Given the description of an element on the screen output the (x, y) to click on. 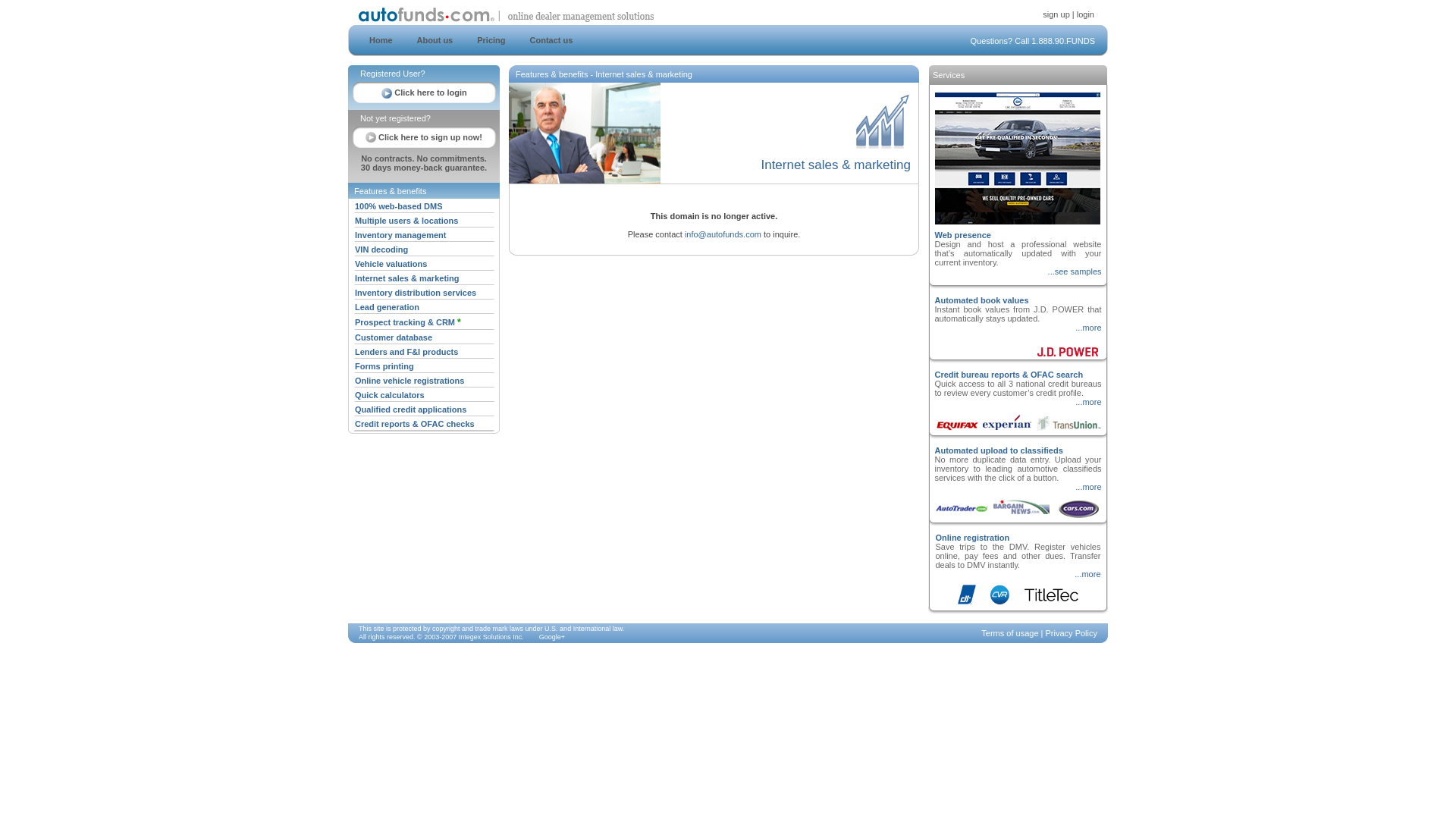
Web presence Element type: text (962, 234)
Lenders and F&I products Element type: text (406, 351)
Inventory management Element type: text (399, 234)
About us Element type: text (430, 39)
Integex Solutions Inc. Element type: text (491, 636)
sign up Element type: text (1055, 13)
Vehicle valuations Element type: text (390, 263)
J.D. POWER B2B vehicle values Element type: hover (1067, 343)
Terms of usage Element type: text (1009, 632)
Pricing Element type: text (490, 39)
Click here to login Element type: text (423, 92)
...more Element type: text (1088, 401)
Online vehicle registrations Element type: text (409, 380)
Forms printing Element type: text (384, 365)
Lead generation Element type: text (386, 306)
...more Element type: text (1087, 573)
Contact us Element type: text (551, 39)
info@autofunds.com Element type: text (722, 233)
Privacy Policy Element type: text (1071, 632)
Multiple users & locations Element type: text (406, 220)
Contact us Element type: text (546, 39)
CVR Element type: hover (999, 601)
Internet sales & marketing Element type: text (406, 277)
Customer database Element type: text (393, 337)
login Element type: text (1085, 13)
Online registration Element type: text (972, 537)
Automated book values Element type: text (981, 299)
100% web-based DMS Element type: text (398, 205)
Home Element type: text (376, 39)
Quick calculators Element type: text (389, 394)
TitleTec Element type: hover (1051, 601)
Credit reports & OFAC checks Element type: text (414, 423)
Pricing Element type: text (486, 39)
About us Element type: text (435, 39)
Dealertrack Element type: hover (966, 601)
Qualified credit applications Element type: text (410, 409)
...more Element type: text (1088, 486)
...more Element type: text (1088, 327)
Credit bureau reports & OFAC search Element type: text (1008, 374)
Automated upload to classifieds Element type: text (998, 450)
Home Element type: text (380, 39)
VIN decoding Element type: text (380, 249)
Prospect tracking & CRM Element type: text (405, 321)
Inventory distribution services Element type: text (415, 292)
Click here to sign up now! Element type: text (423, 136)
Google+ Element type: text (551, 636)
...see samples Element type: text (1074, 271)
